Given the description of an element on the screen output the (x, y) to click on. 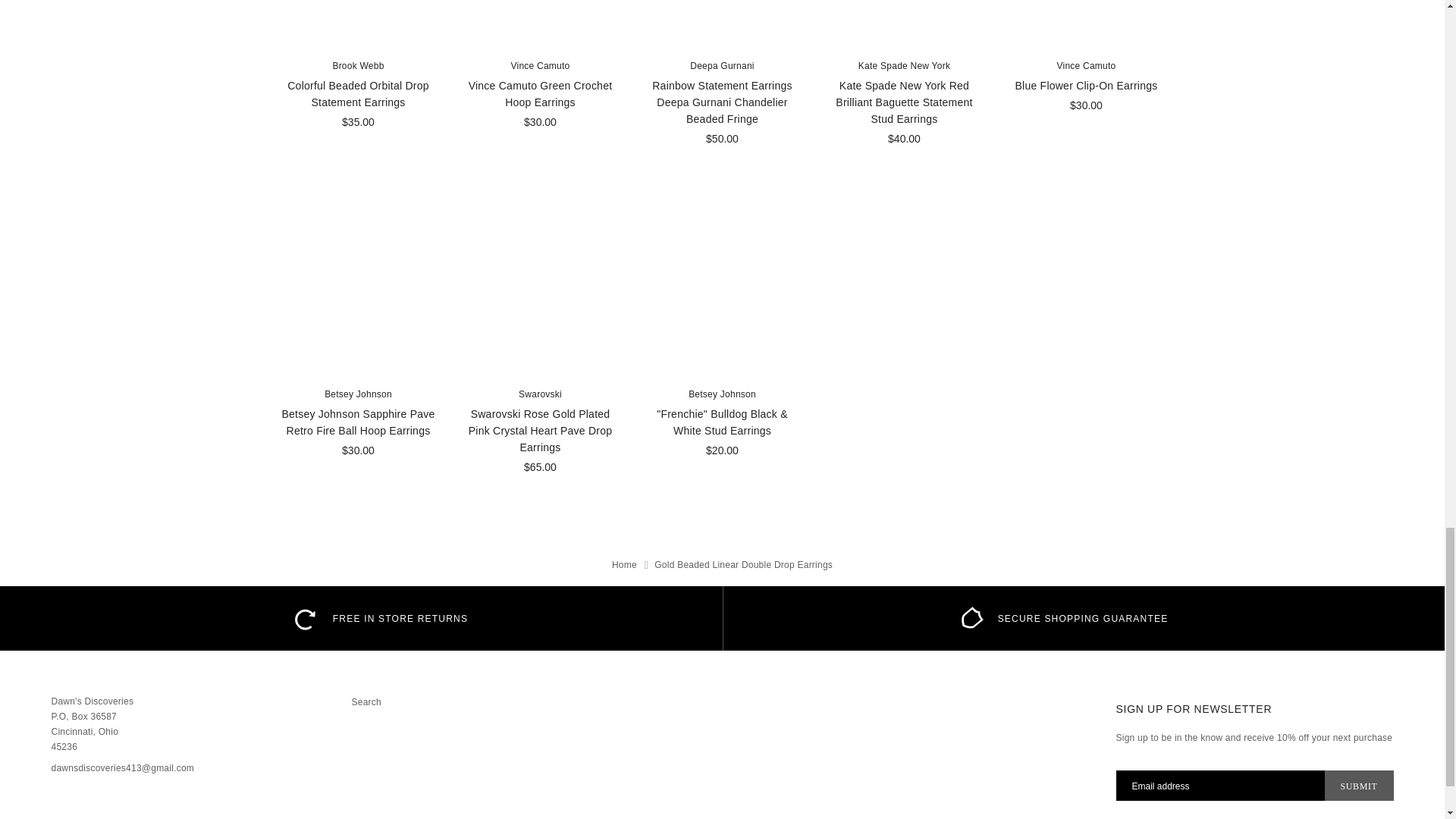
Brook Webb (357, 65)
Vince Camuto (540, 65)
Submit (1358, 785)
